Given the description of an element on the screen output the (x, y) to click on. 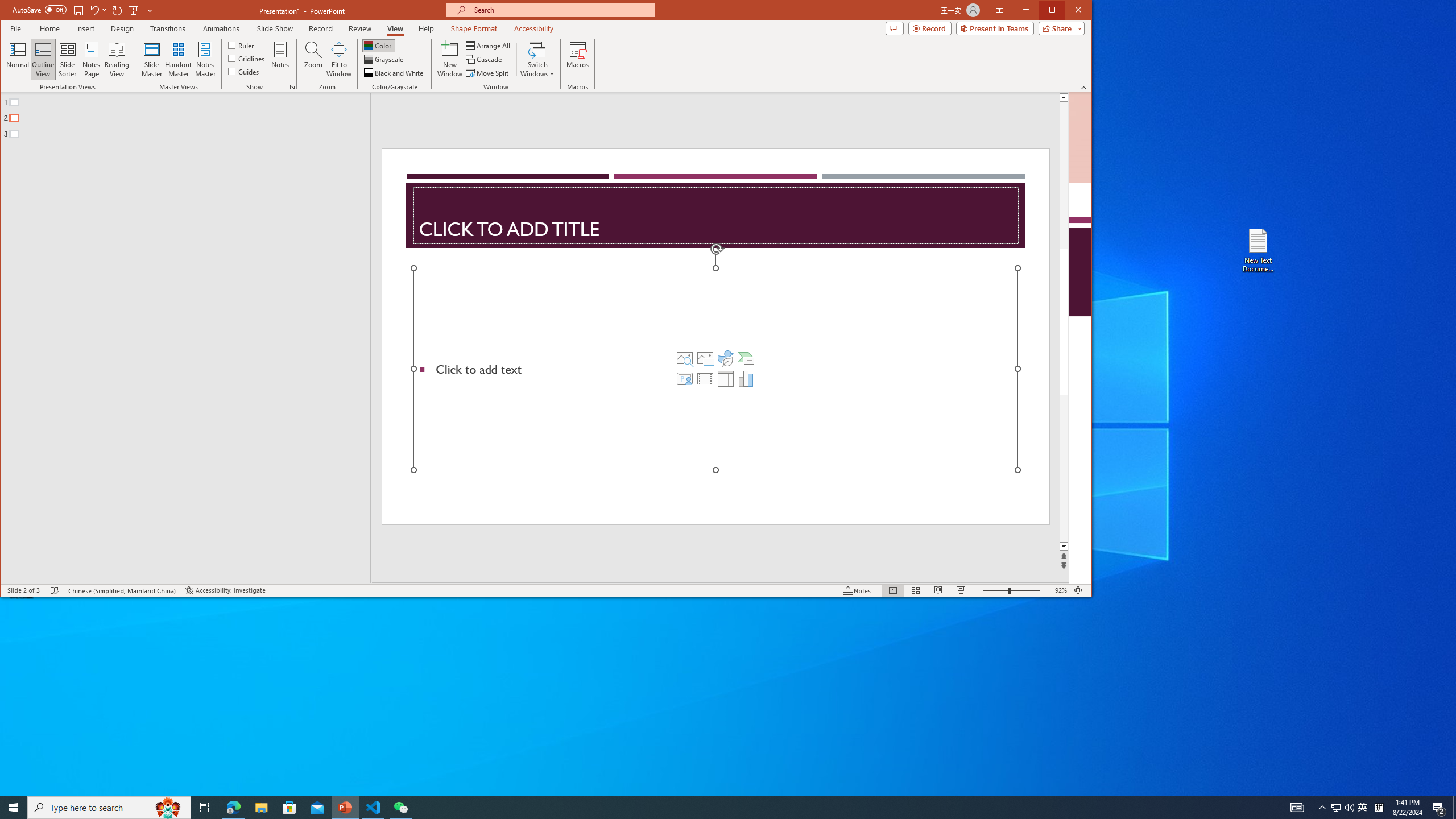
Color (378, 45)
Grid Settings... (292, 86)
Slide Master (151, 59)
